Given the description of an element on the screen output the (x, y) to click on. 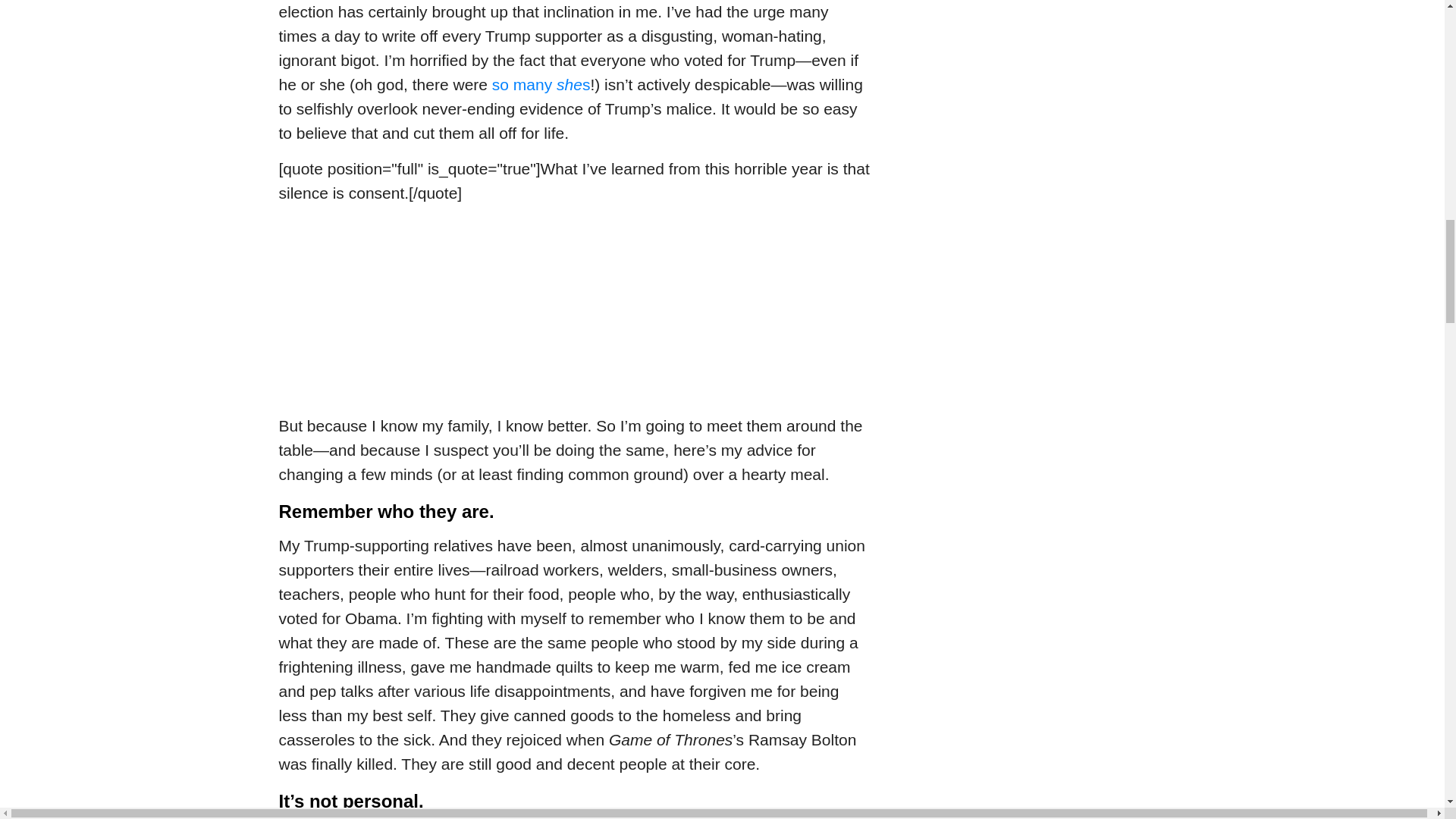
so many shes (541, 84)
